Given the description of an element on the screen output the (x, y) to click on. 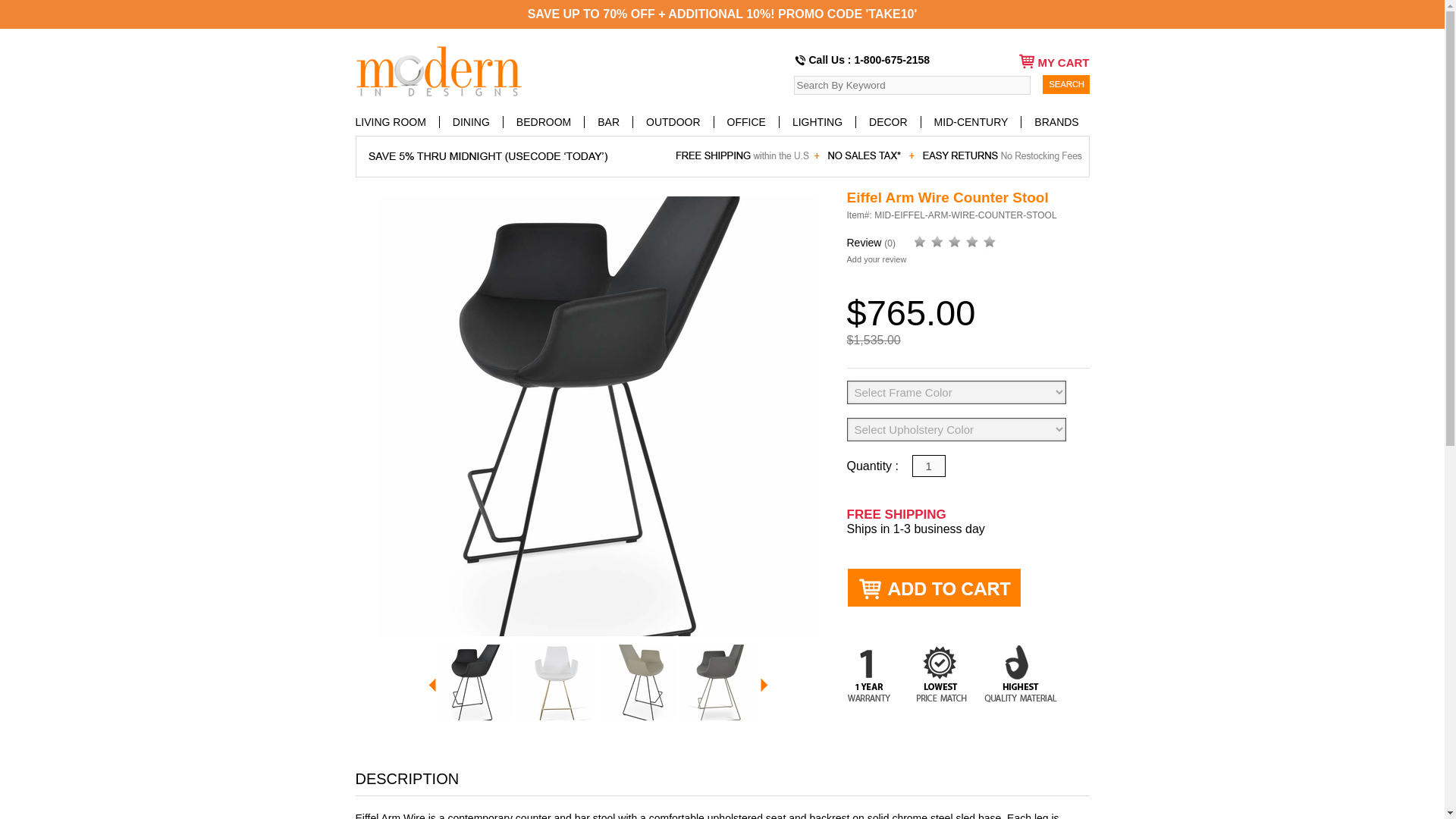
BEDROOM (544, 121)
DINING (471, 121)
LIVING ROOM (397, 121)
Dining (471, 121)
MY CART (1045, 61)
BAR (609, 121)
1 (928, 465)
Living Room (397, 121)
